Given the description of an element on the screen output the (x, y) to click on. 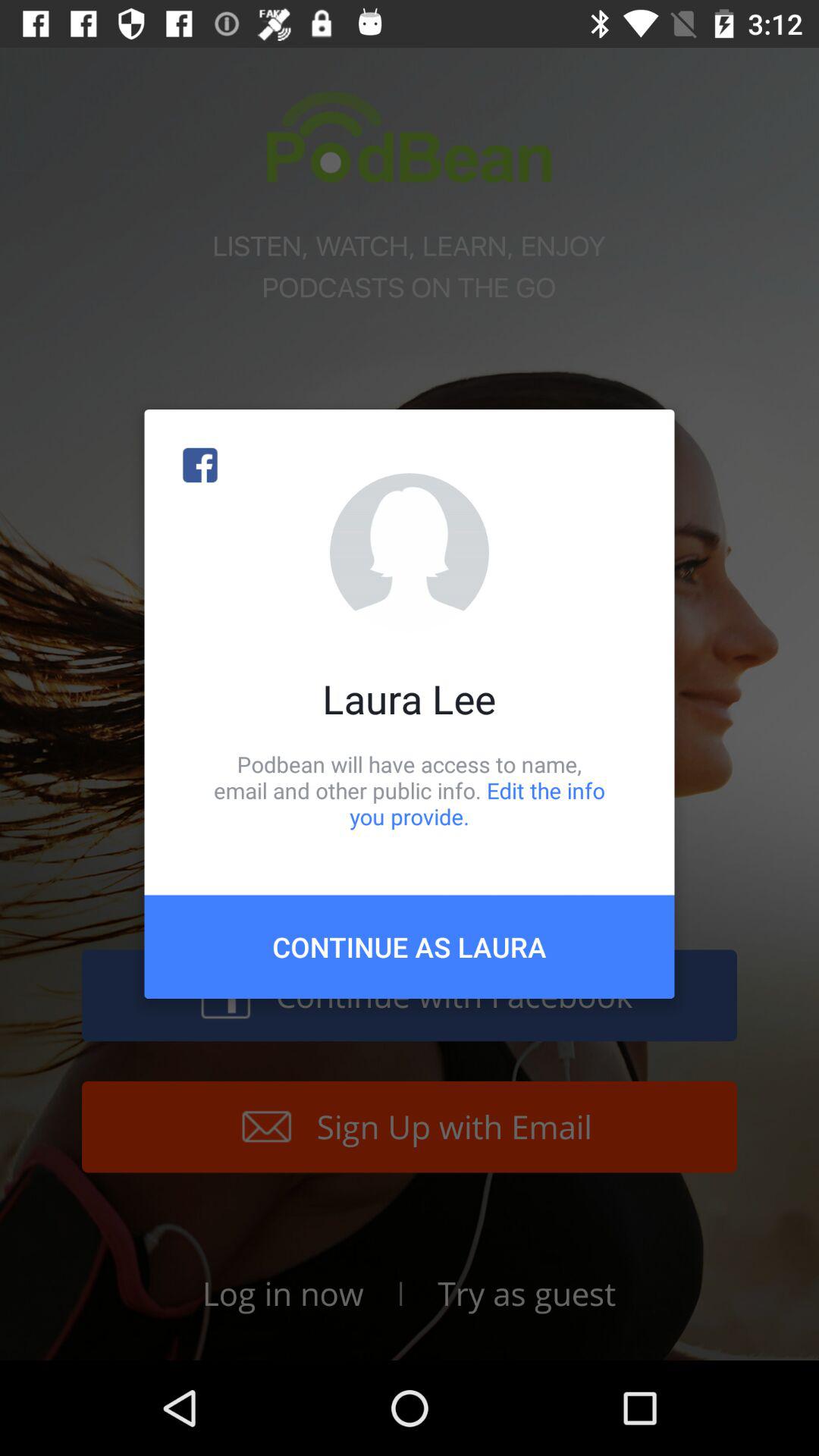
press podbean will have (409, 790)
